Given the description of an element on the screen output the (x, y) to click on. 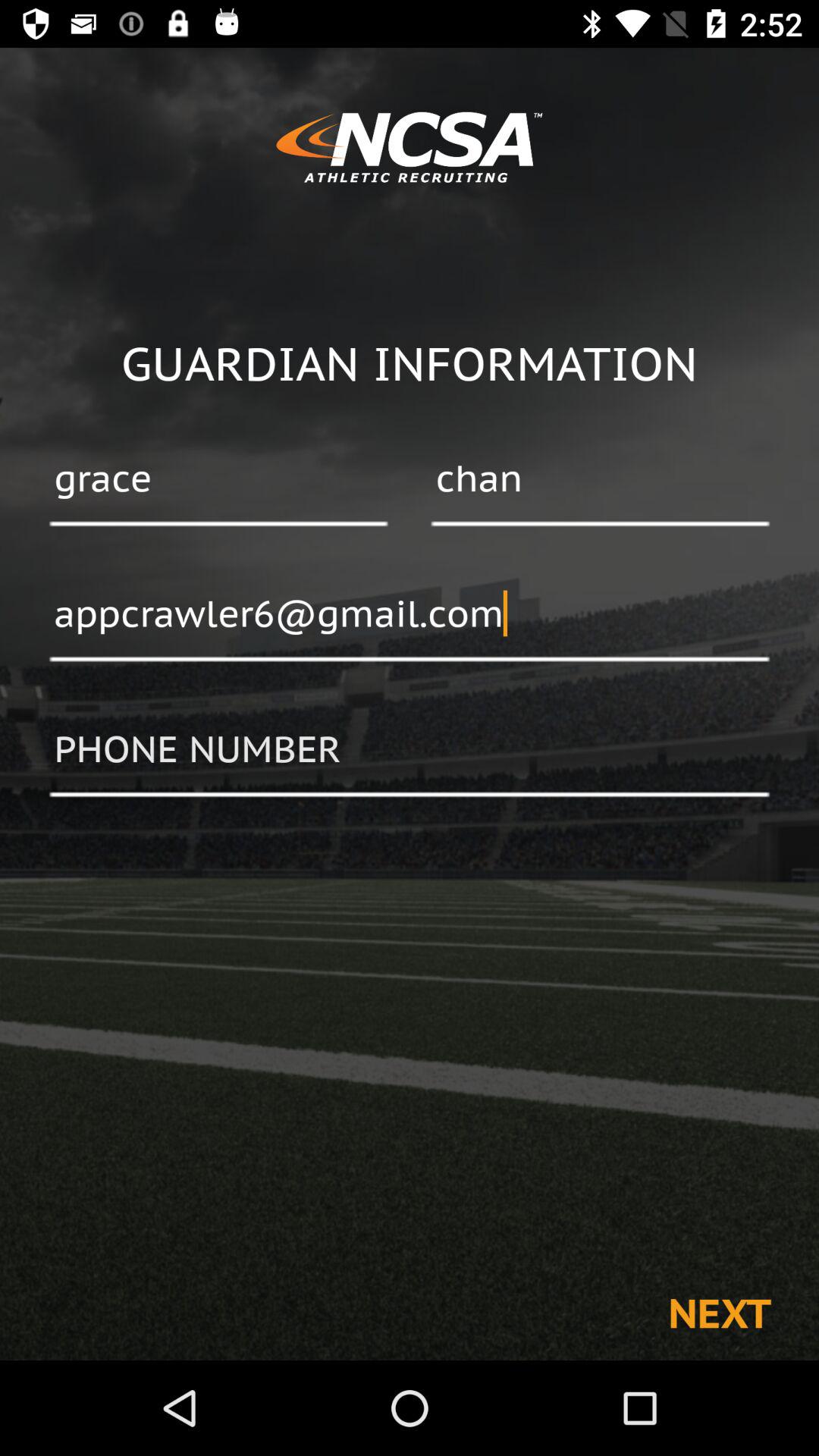
turn off icon to the left of the chan icon (218, 479)
